Given the description of an element on the screen output the (x, y) to click on. 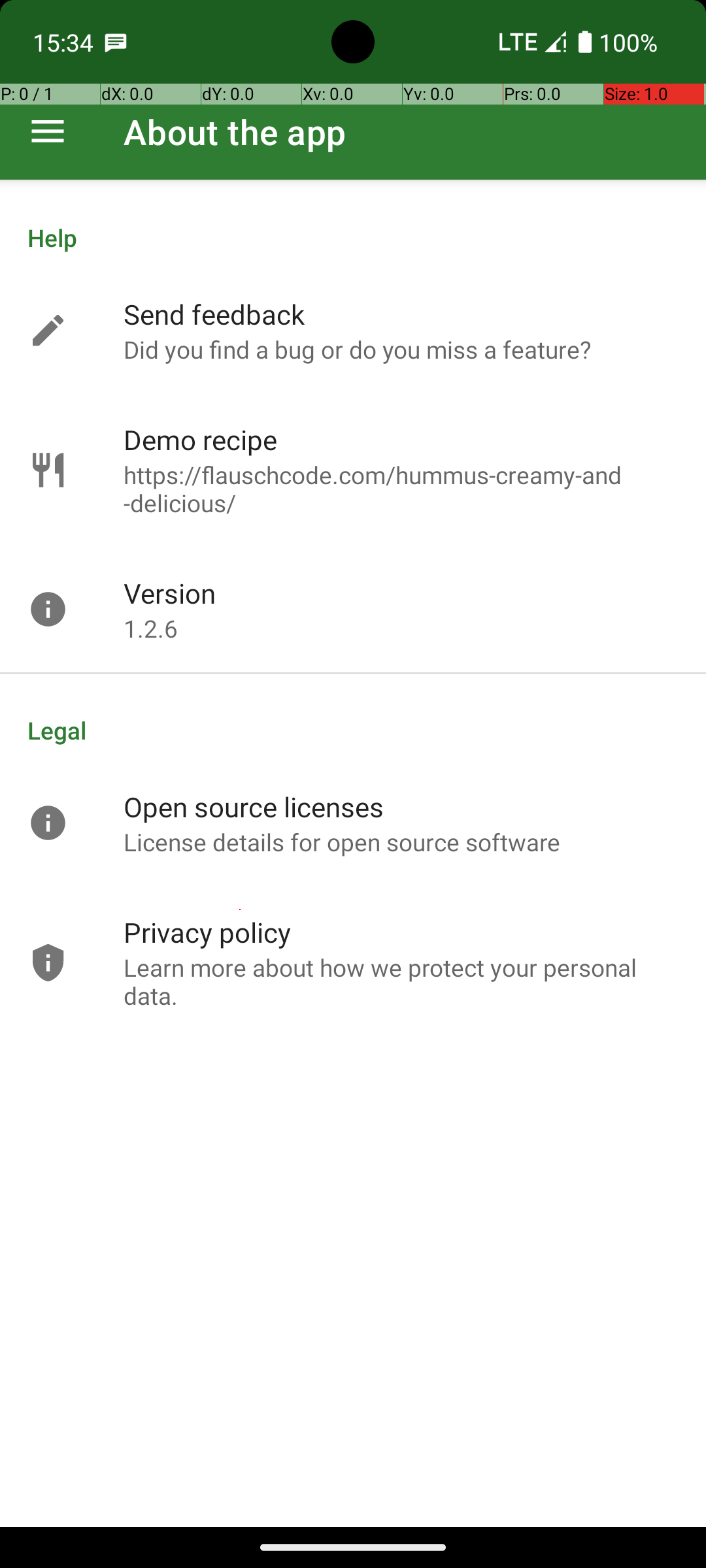
Send feedback Element type: android.widget.TextView (213, 313)
Did you find a bug or do you miss a feature? Element type: android.widget.TextView (356, 348)
Demo recipe Element type: android.widget.TextView (200, 438)
https://flauschcode.com/hummus-creamy-and-delicious/ Element type: android.widget.TextView (400, 488)
Version Element type: android.widget.TextView (169, 592)
1.2.6 Element type: android.widget.TextView (150, 627)
Legal Element type: android.widget.TextView (352, 729)
Open source licenses Element type: android.widget.TextView (253, 806)
License details for open source software Element type: android.widget.TextView (341, 841)
Learn more about how we protect your personal data. Element type: android.widget.TextView (400, 981)
